Given the description of an element on the screen output the (x, y) to click on. 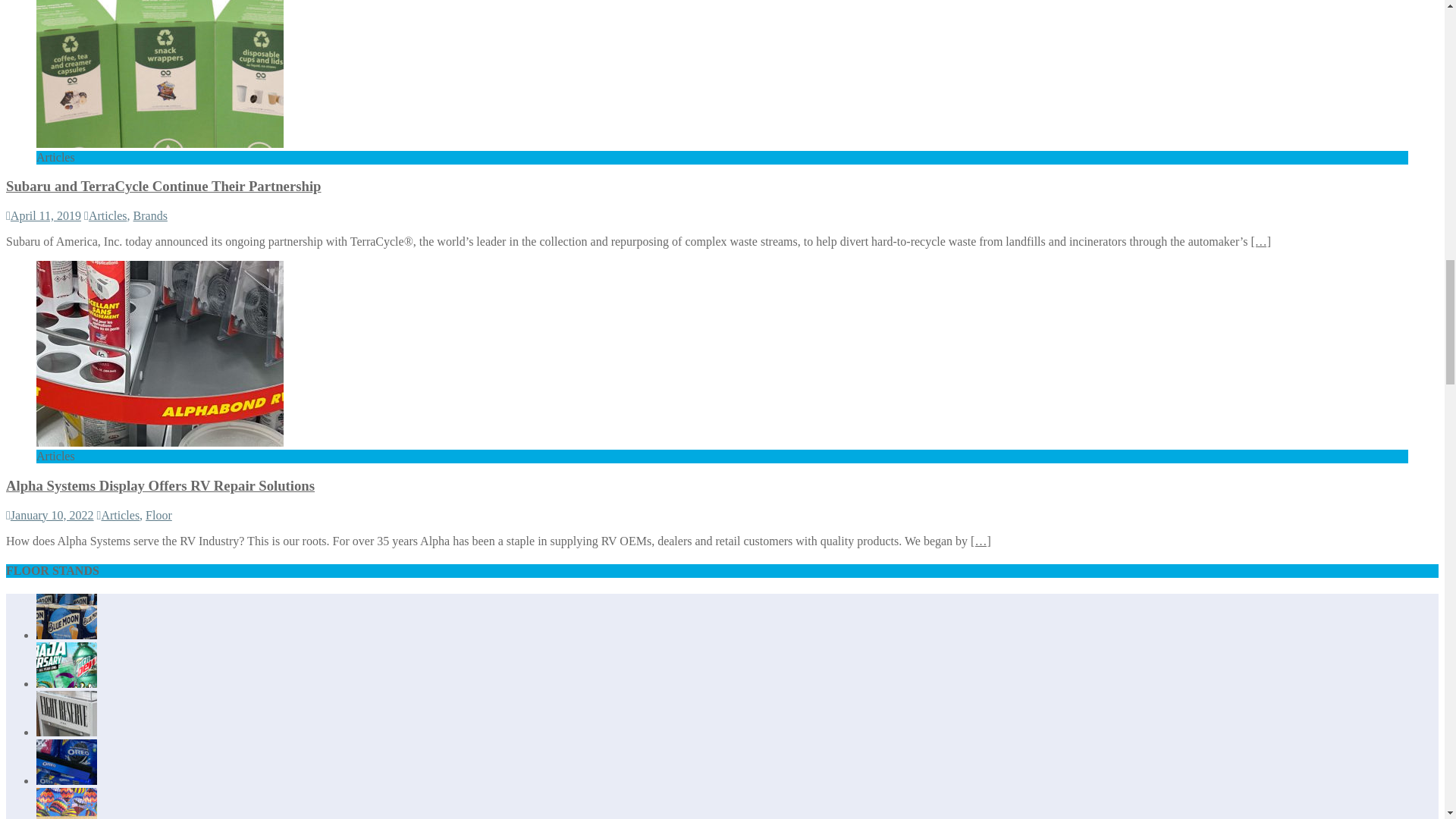
Subaru and TerraCycle Continue Their Partnership (163, 186)
Subaru and TerraCycle Continue Their Partnership (1260, 241)
Alpha Systems Display Offers RV Repair Solutions (159, 441)
Subaru and TerraCycle Continue Their Partnership (159, 143)
